Given the description of an element on the screen output the (x, y) to click on. 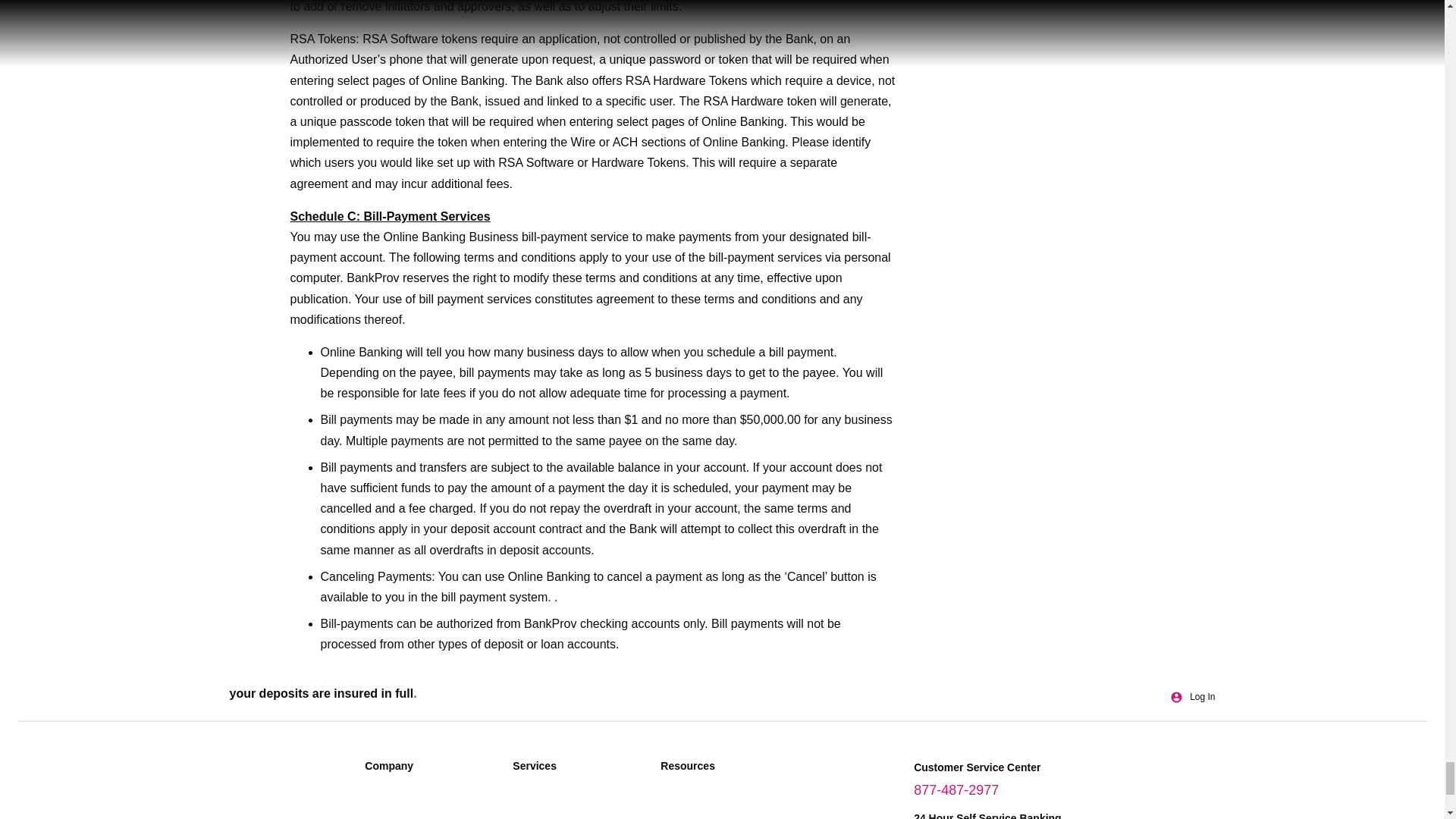
Resources (727, 770)
Log In (1192, 697)
Services (579, 770)
877-487-2977 (956, 789)
Company (431, 770)
